Given the description of an element on the screen output the (x, y) to click on. 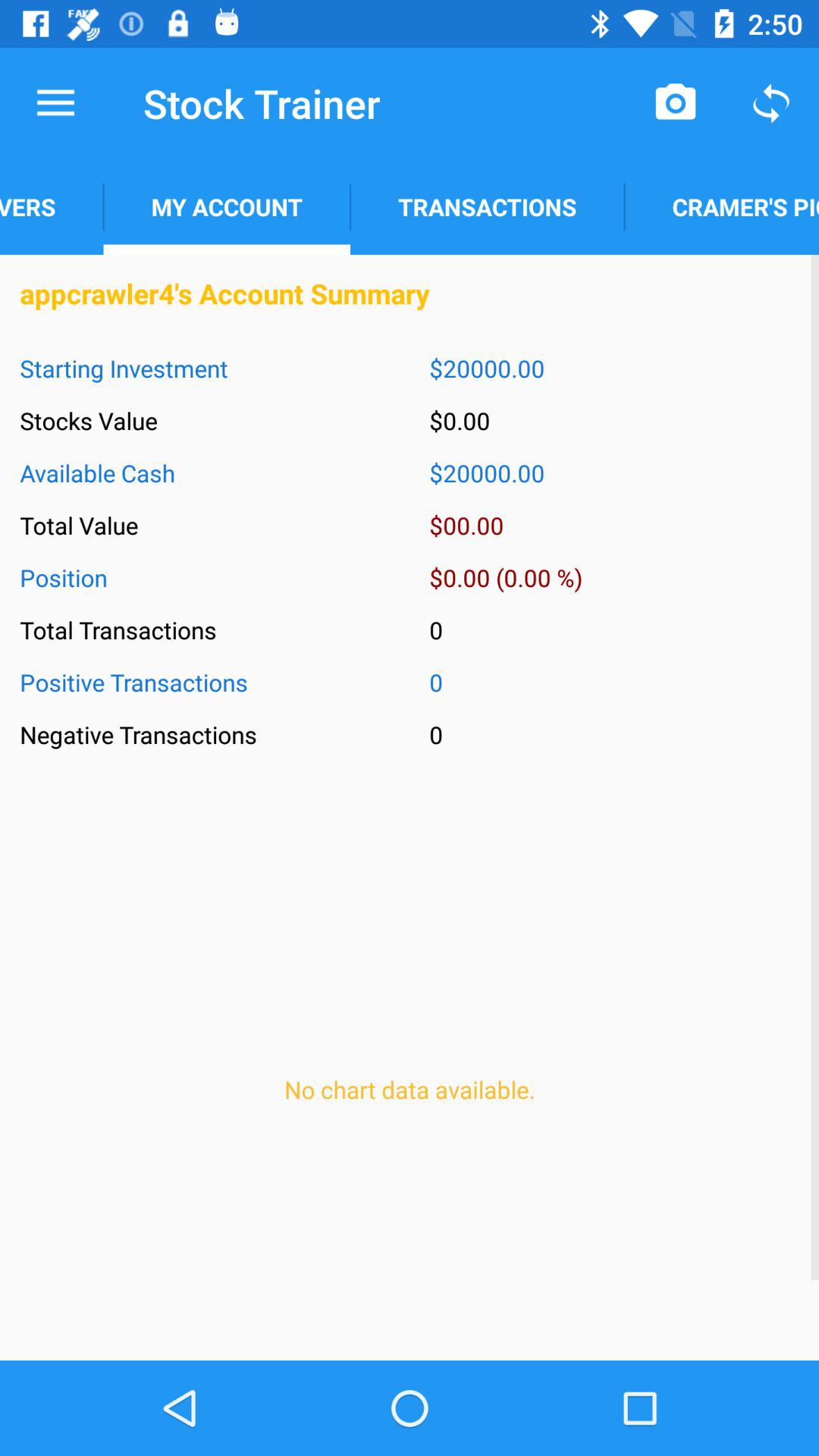
click the my account item (226, 206)
